Given the description of an element on the screen output the (x, y) to click on. 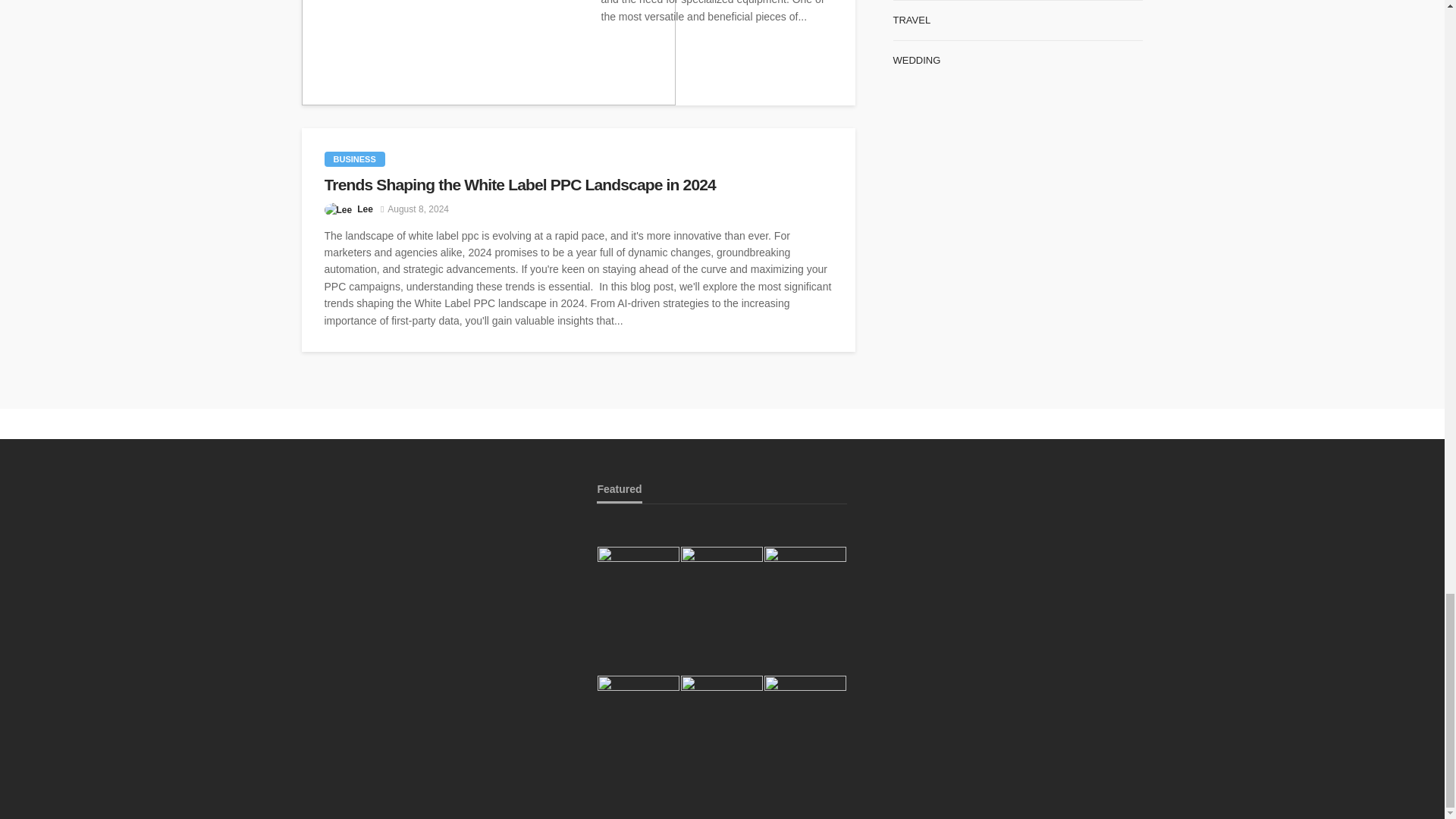
Trends Shaping the White Label PPC Landscape in 2024 (578, 184)
Benefits of Mobile Crane Hire for Construction Projects (488, 52)
Business (354, 159)
